Given the description of an element on the screen output the (x, y) to click on. 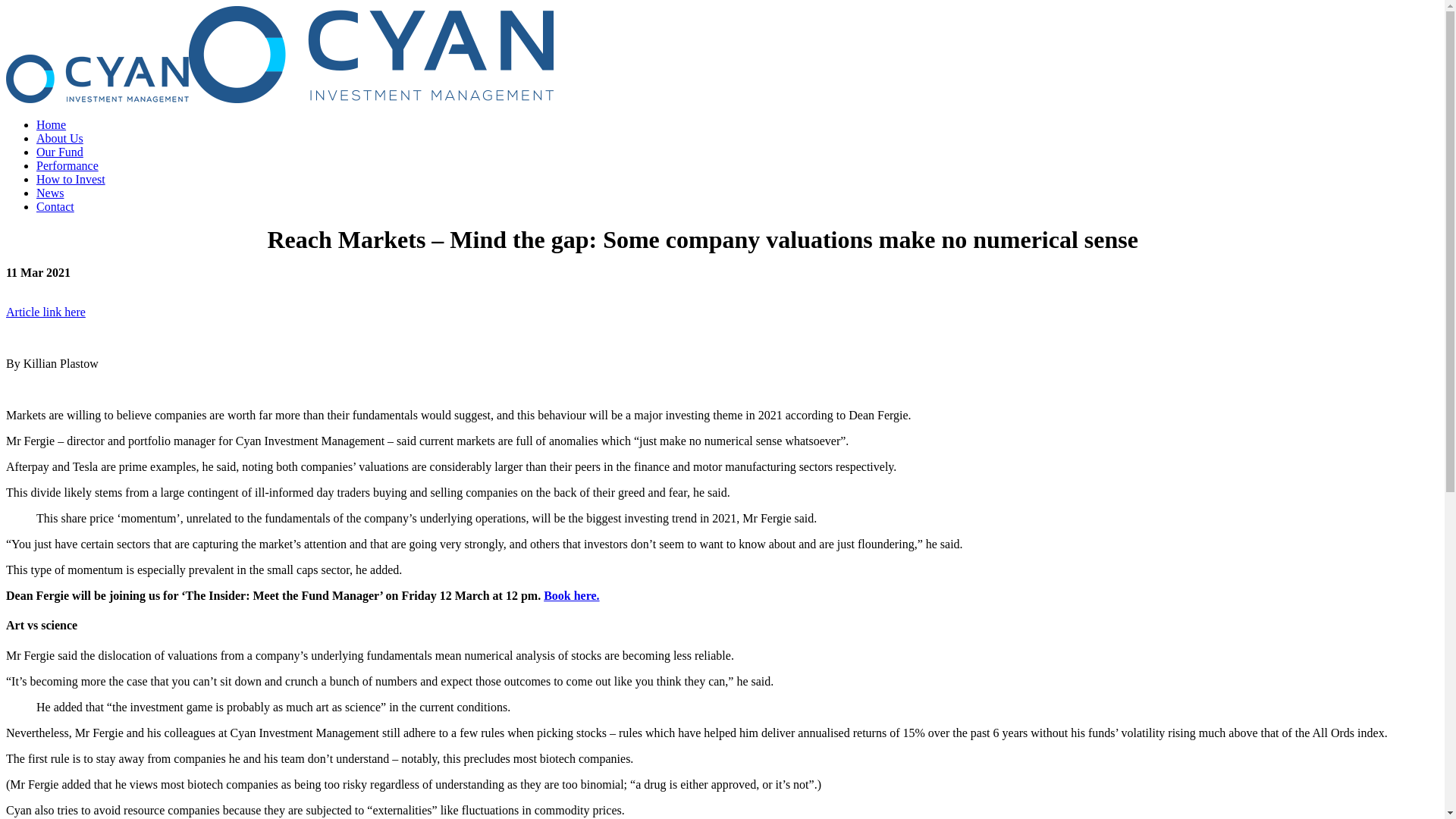
About Us Element type: text (59, 137)
How to Invest Element type: text (70, 178)
Book here. Element type: text (571, 595)
Contact Element type: text (55, 206)
Performance Element type: text (67, 165)
Article link here Element type: text (45, 311)
Home Element type: text (50, 124)
Our Fund Element type: text (59, 151)
News Element type: text (49, 192)
